Given the description of an element on the screen output the (x, y) to click on. 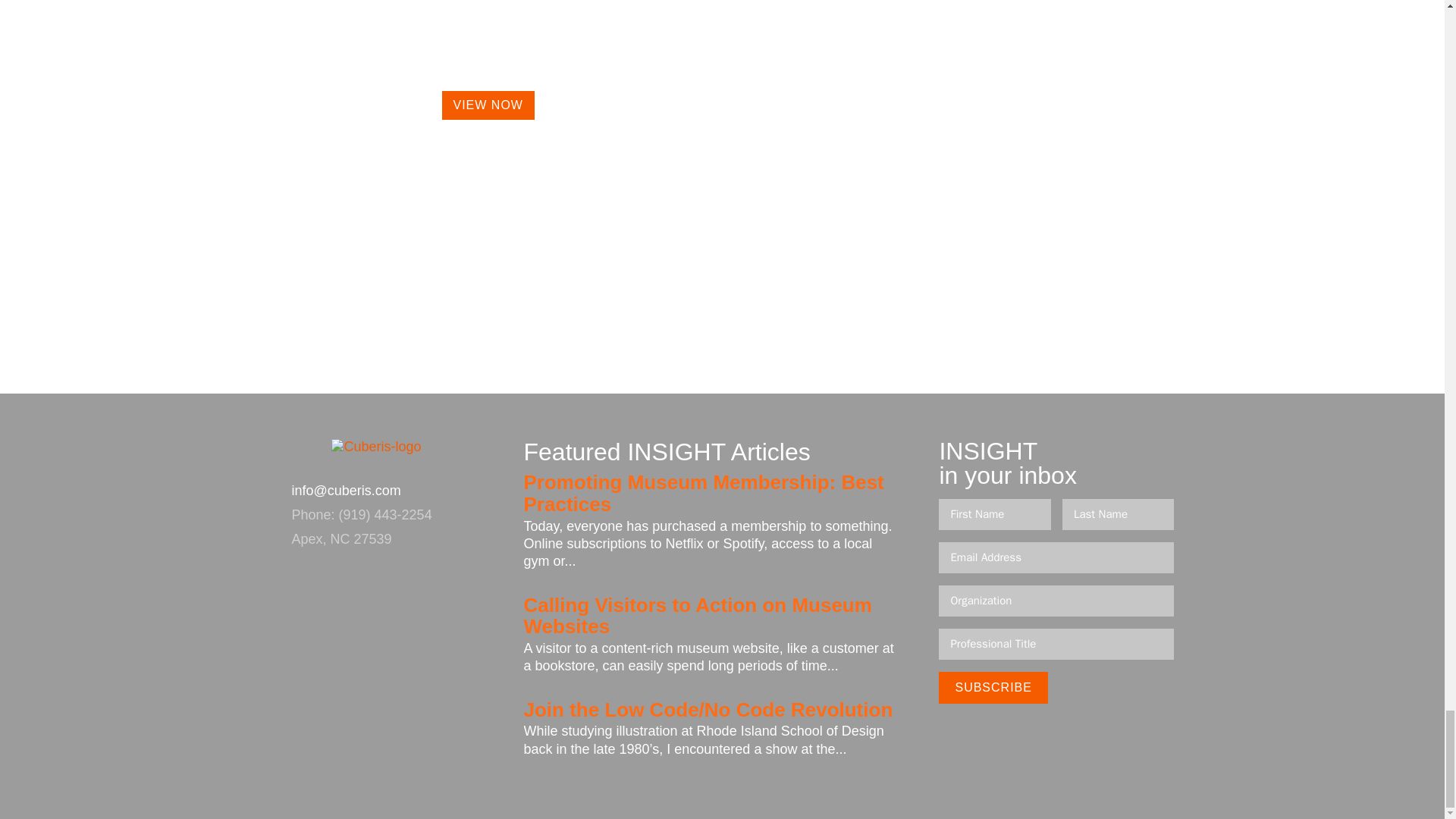
Cuberis-logo (375, 458)
